Given the description of an element on the screen output the (x, y) to click on. 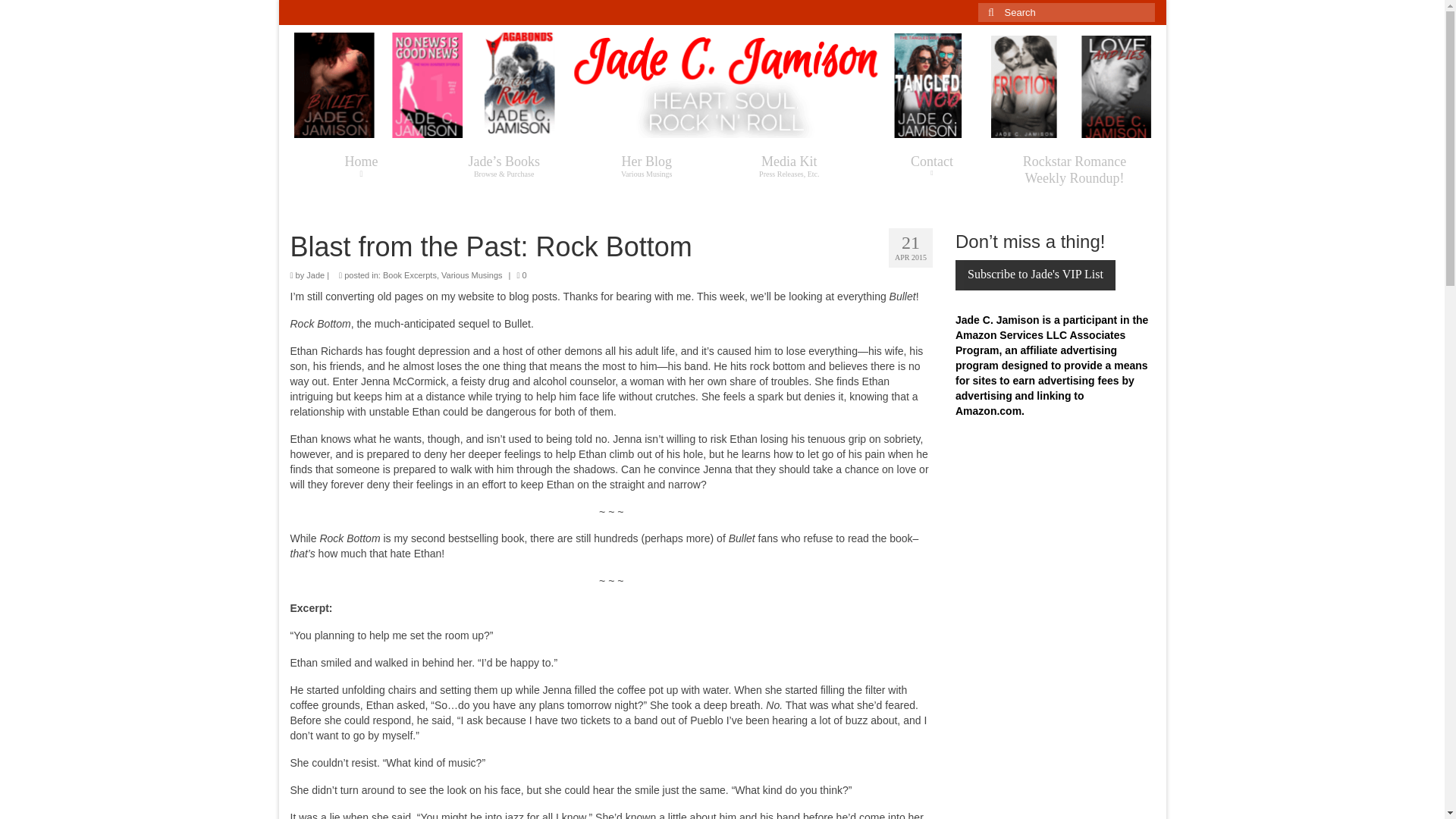
Contact (931, 164)
Various Musings (471, 275)
Home (646, 165)
Jade (360, 165)
Subscribe to Jade's VIP List (314, 275)
Rockstar Romance Weekly Roundup! (1035, 275)
Book Excerpts (788, 165)
